Given the description of an element on the screen output the (x, y) to click on. 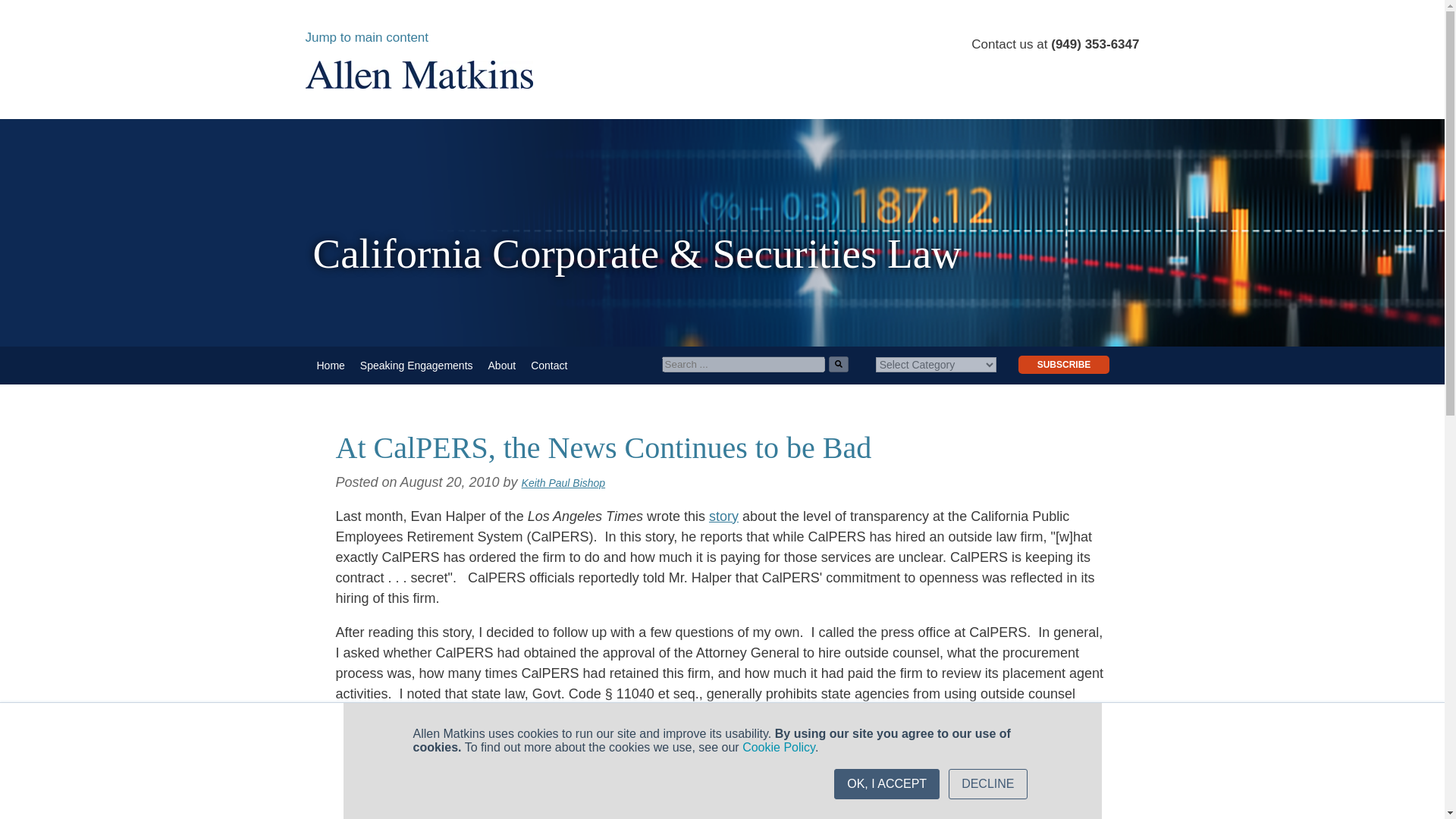
Jump to main content (366, 37)
Cookie Policy (778, 747)
OK, I ACCEPT (886, 784)
Speaking Engagements (416, 365)
DECLINE (987, 784)
Home (330, 365)
Contact (548, 365)
About (502, 365)
